Given the description of an element on the screen output the (x, y) to click on. 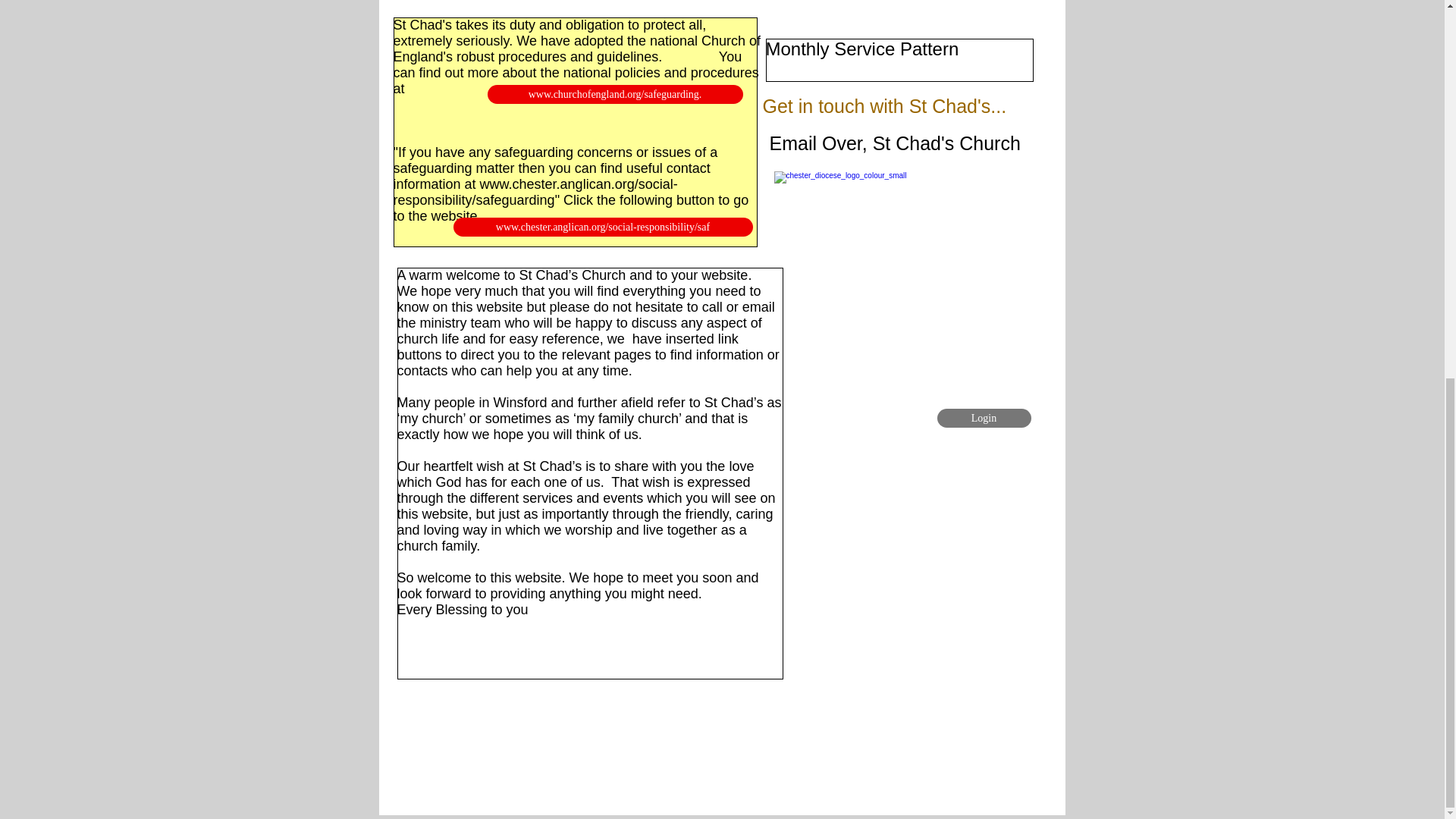
Login (983, 417)
Monthly Service Pattern (862, 48)
Get in touch with St Chad's... (884, 106)
Email Over, St Chad's Church (894, 142)
